Given the description of an element on the screen output the (x, y) to click on. 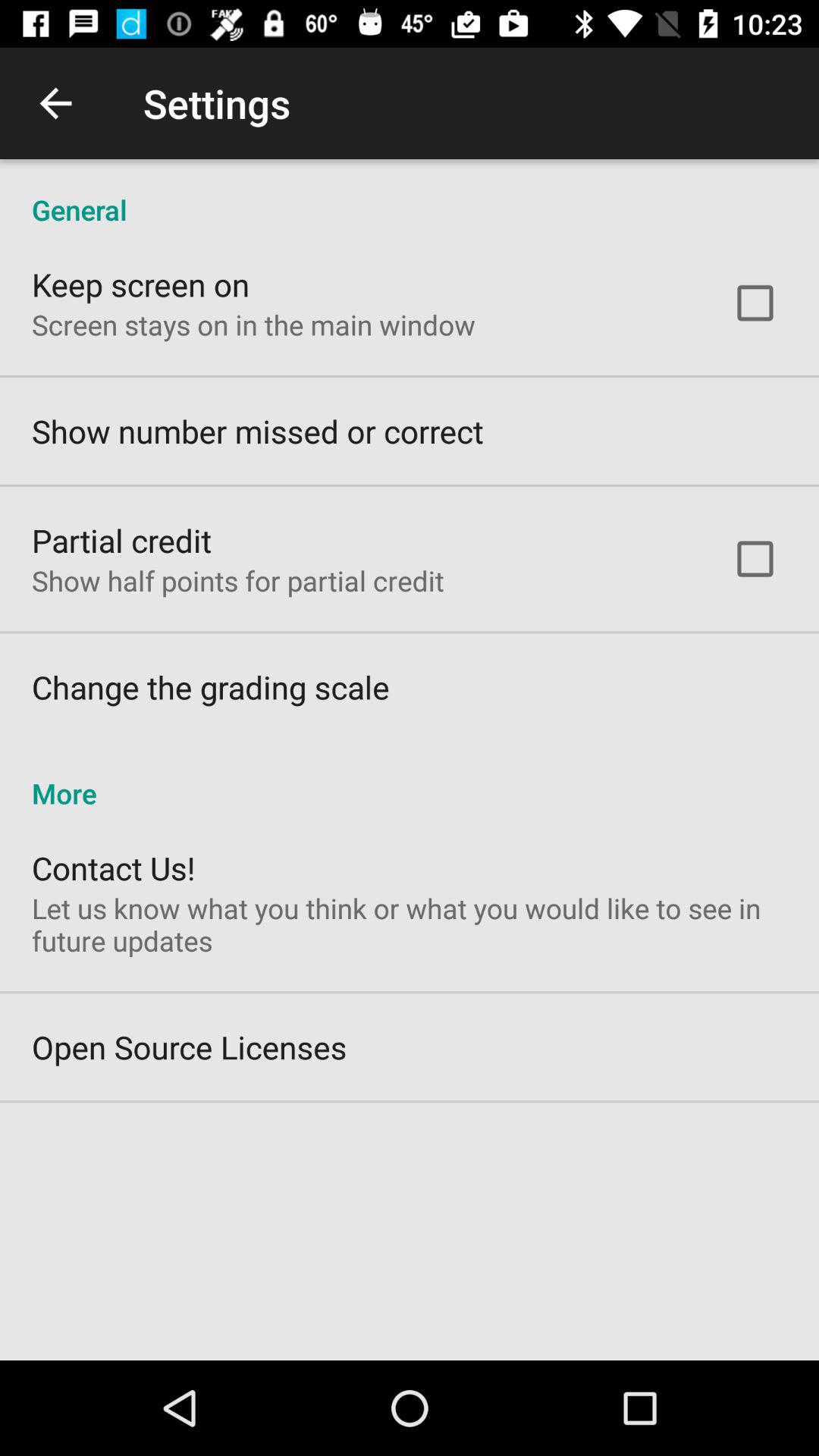
select contact us! icon (113, 867)
